Given the description of an element on the screen output the (x, y) to click on. 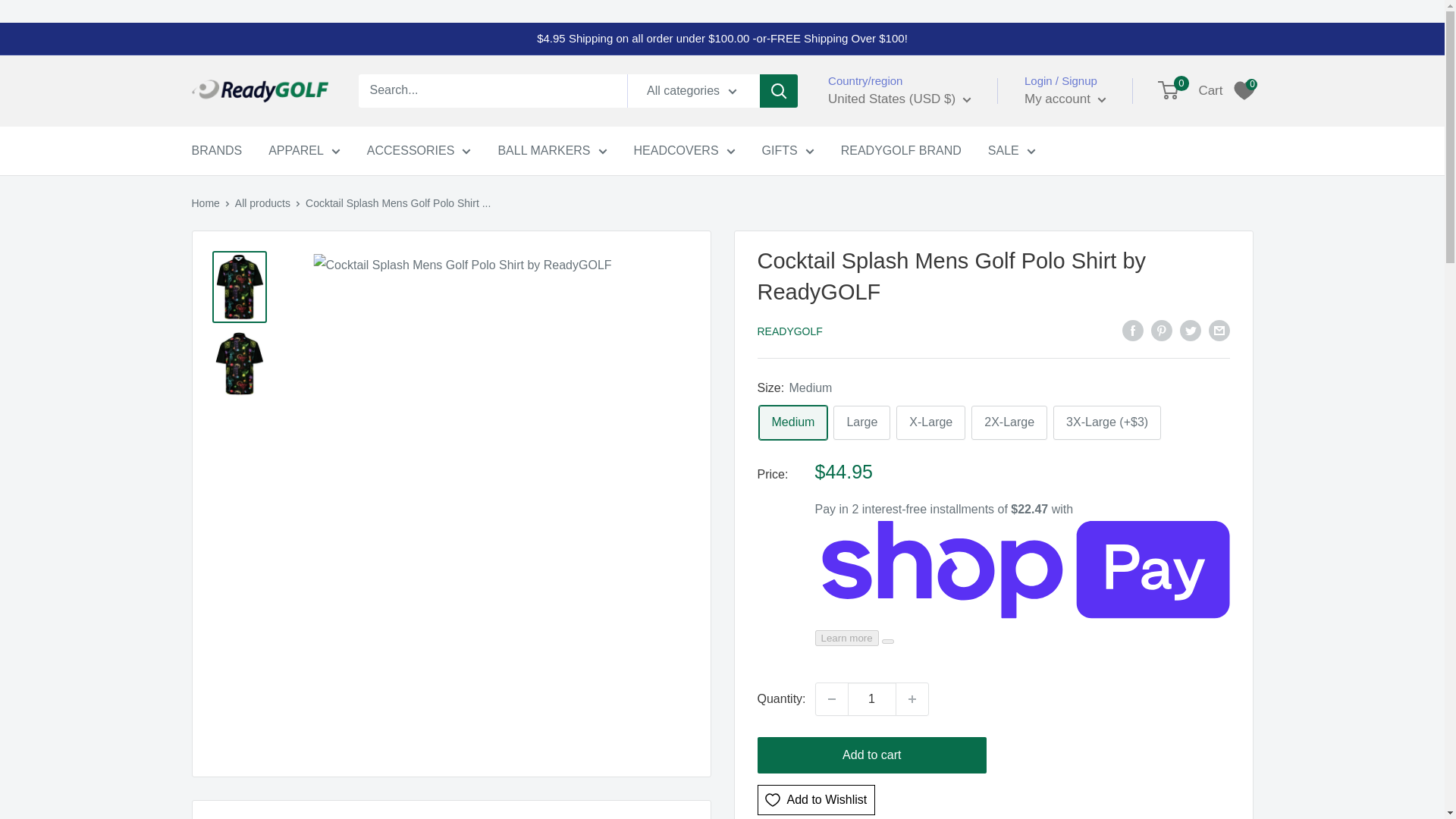
Decrease quantity by 1 (831, 698)
Medium (792, 422)
Large (860, 422)
2X-Large (1008, 422)
X-Large (930, 422)
1 (871, 698)
Increase quantity by 1 (912, 698)
